Given the description of an element on the screen output the (x, y) to click on. 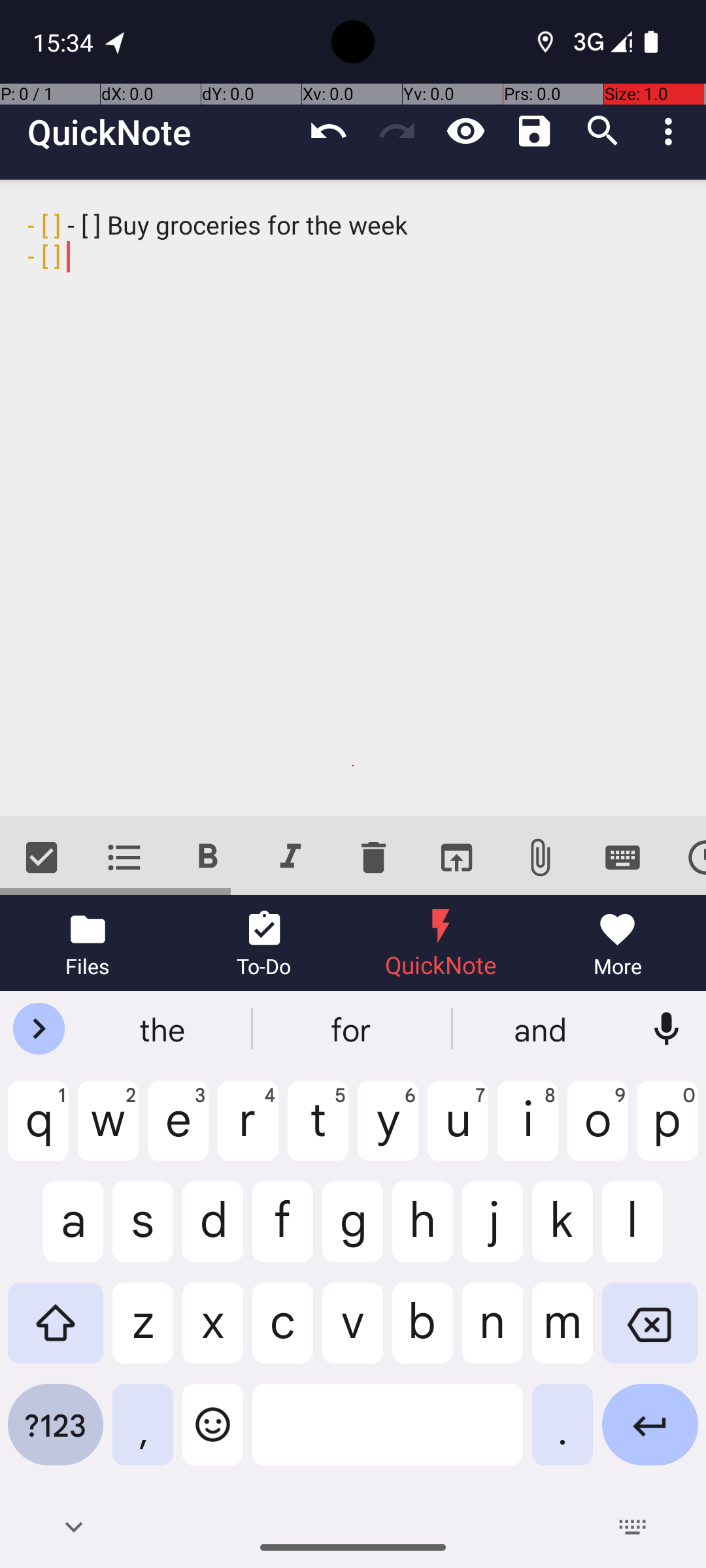
- [ ] - [ ] Buy groceries for the week
- [ ]  Element type: android.widget.EditText (353, 497)
the Element type: android.widget.FrameLayout (163, 1028)
for Element type: android.widget.FrameLayout (352, 1028)
and Element type: android.widget.FrameLayout (541, 1028)
